Given the description of an element on the screen output the (x, y) to click on. 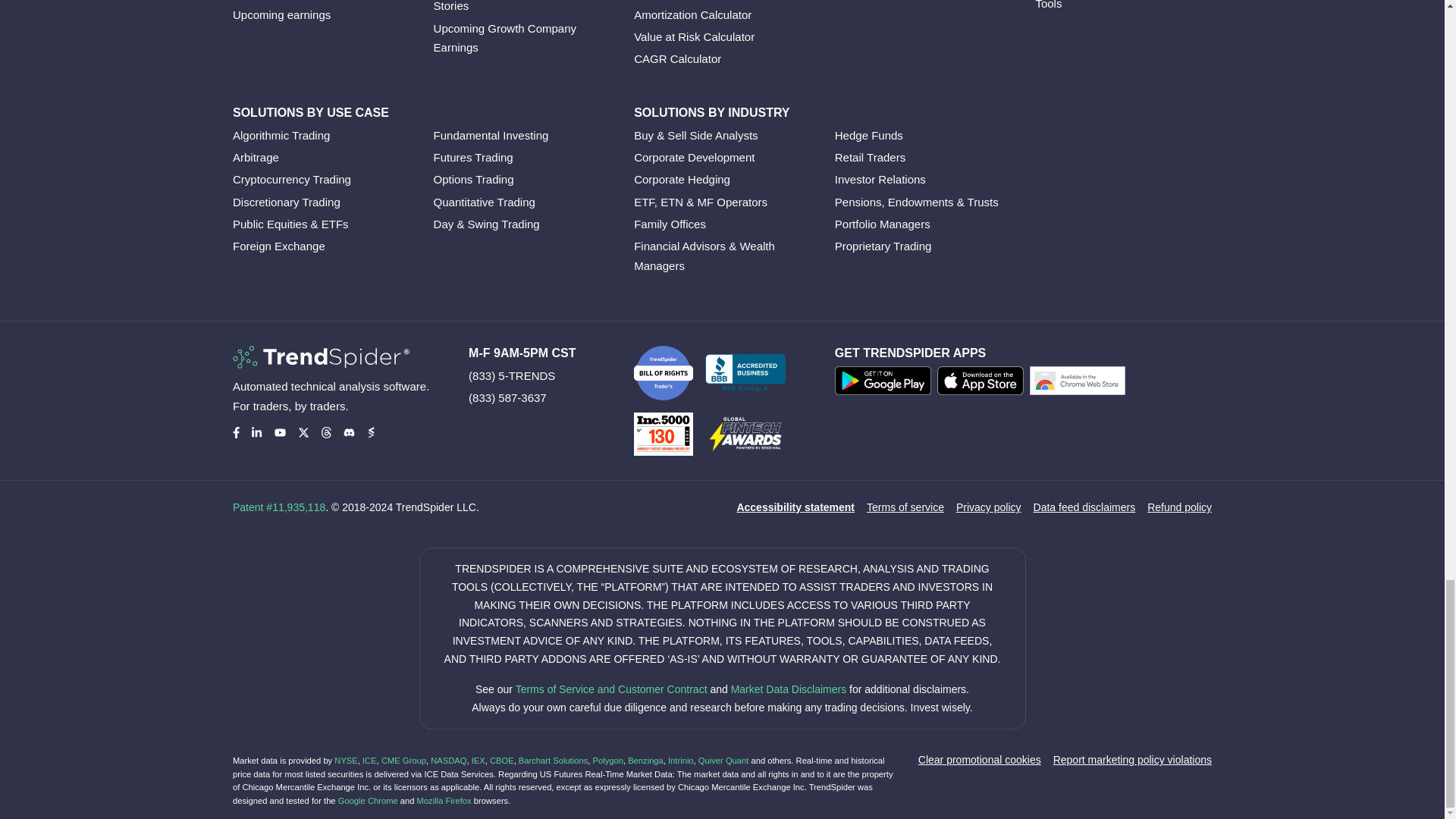
Get TrendSpider App on Google Play (885, 383)
TrendSpider (320, 356)
Discord (349, 432)
YouTube (280, 432)
X (302, 432)
Get TrendSpider extension in Chrome Web Store (1080, 383)
Get TrendSpider App on App Store (983, 383)
